Given the description of an element on the screen output the (x, y) to click on. 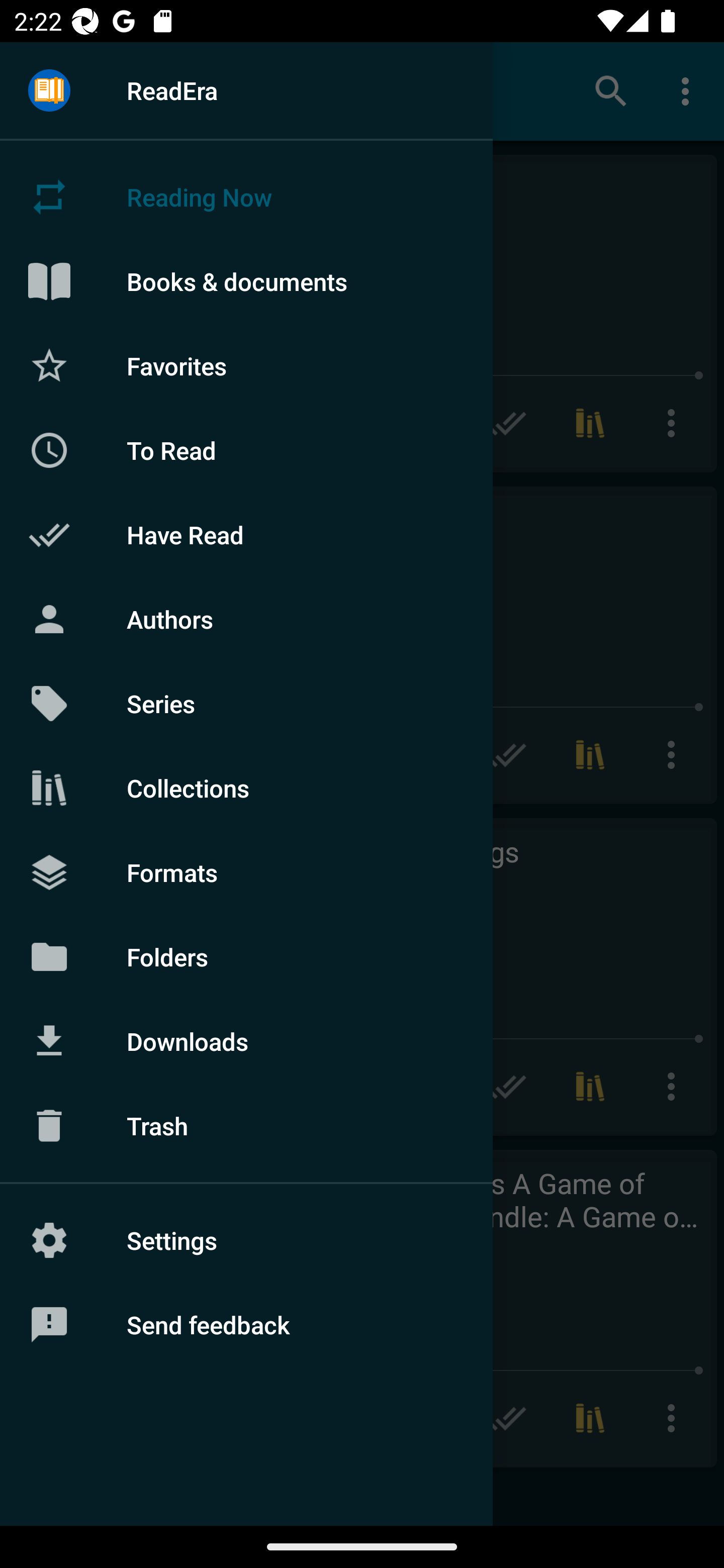
Menu (49, 91)
ReadEra (246, 89)
Search books & documents (611, 90)
More options (688, 90)
Reading Now (246, 197)
Books & documents (246, 281)
Favorites (246, 365)
To Read (246, 449)
Have Read (246, 534)
Authors (246, 619)
Series (246, 703)
Collections (246, 787)
Formats (246, 871)
Folders (246, 956)
Downloads (246, 1040)
Trash (246, 1125)
Settings (246, 1239)
Send feedback (246, 1324)
